Given the description of an element on the screen output the (x, y) to click on. 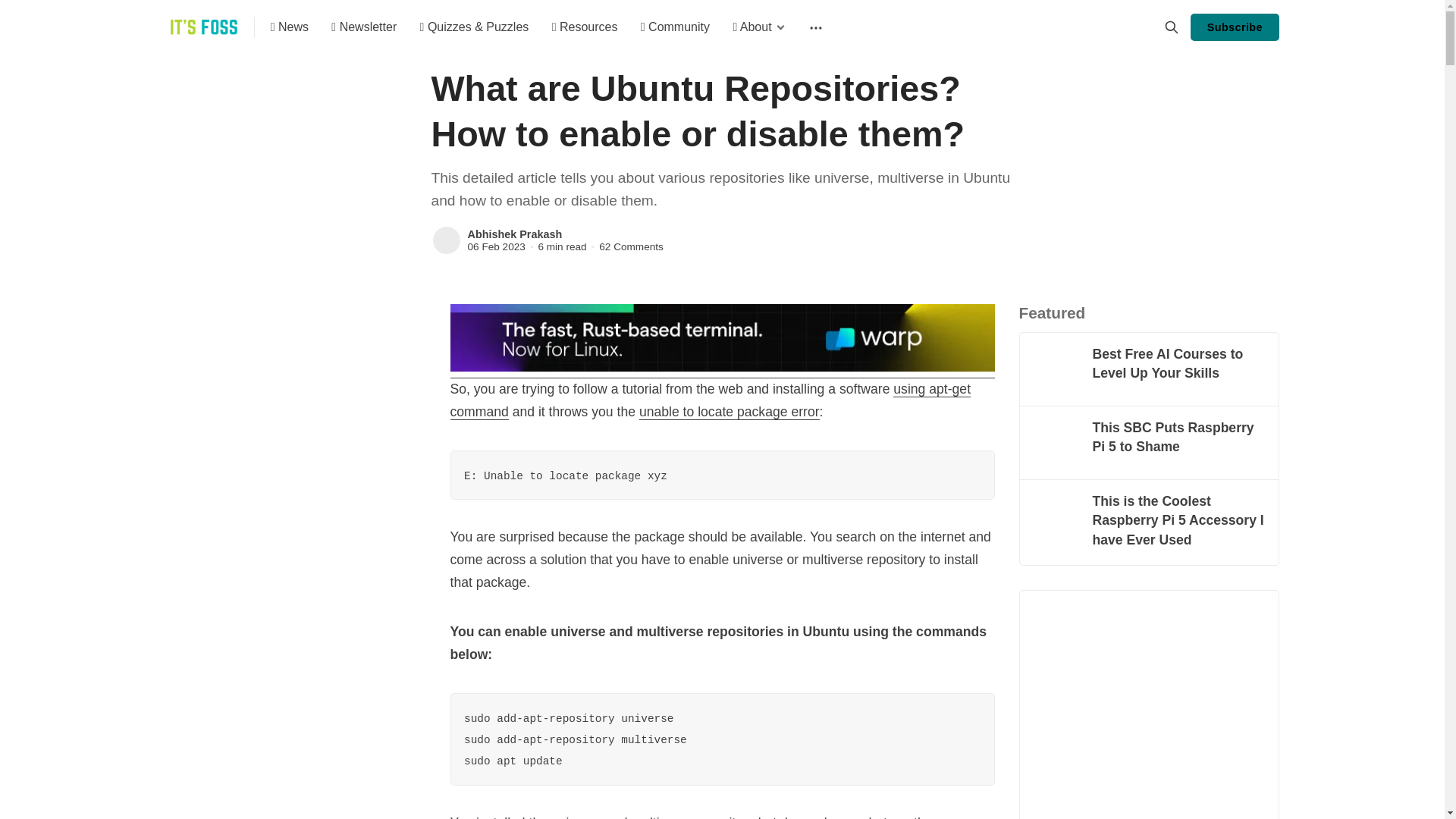
Search (1171, 26)
Abhishek Prakash (514, 234)
unable to locate package error (729, 412)
using apt-get command (710, 400)
Abhishek Prakash (445, 240)
Subscribe (1234, 26)
